Given the description of an element on the screen output the (x, y) to click on. 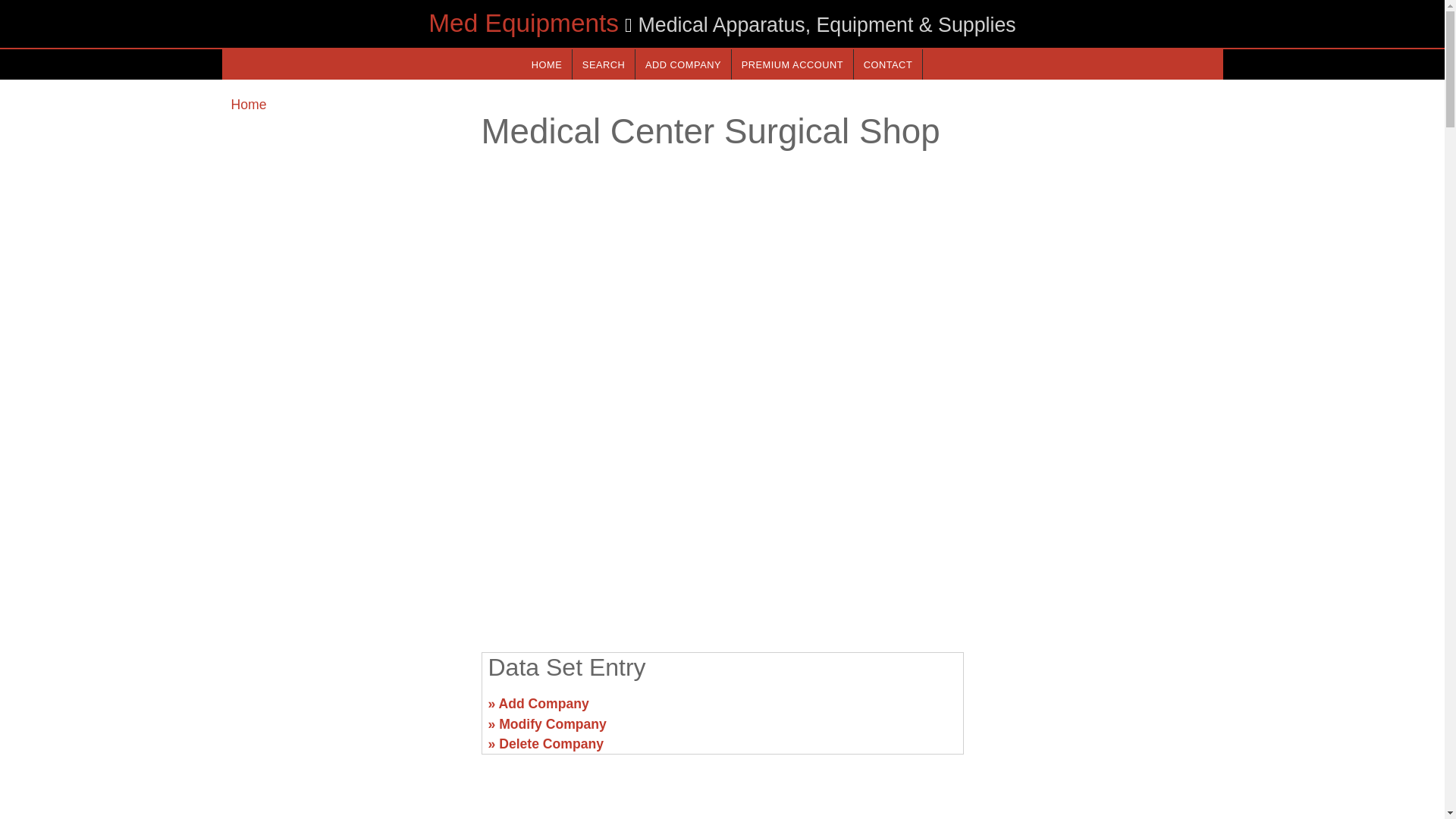
Advertisement (721, 522)
HOME (546, 64)
Add a new company (682, 64)
Premium account (792, 64)
Med Equipments (523, 22)
SEARCH (603, 64)
Search in this webseite. (603, 64)
CONTACT (887, 64)
ADD COMPANY (682, 64)
